Given the description of an element on the screen output the (x, y) to click on. 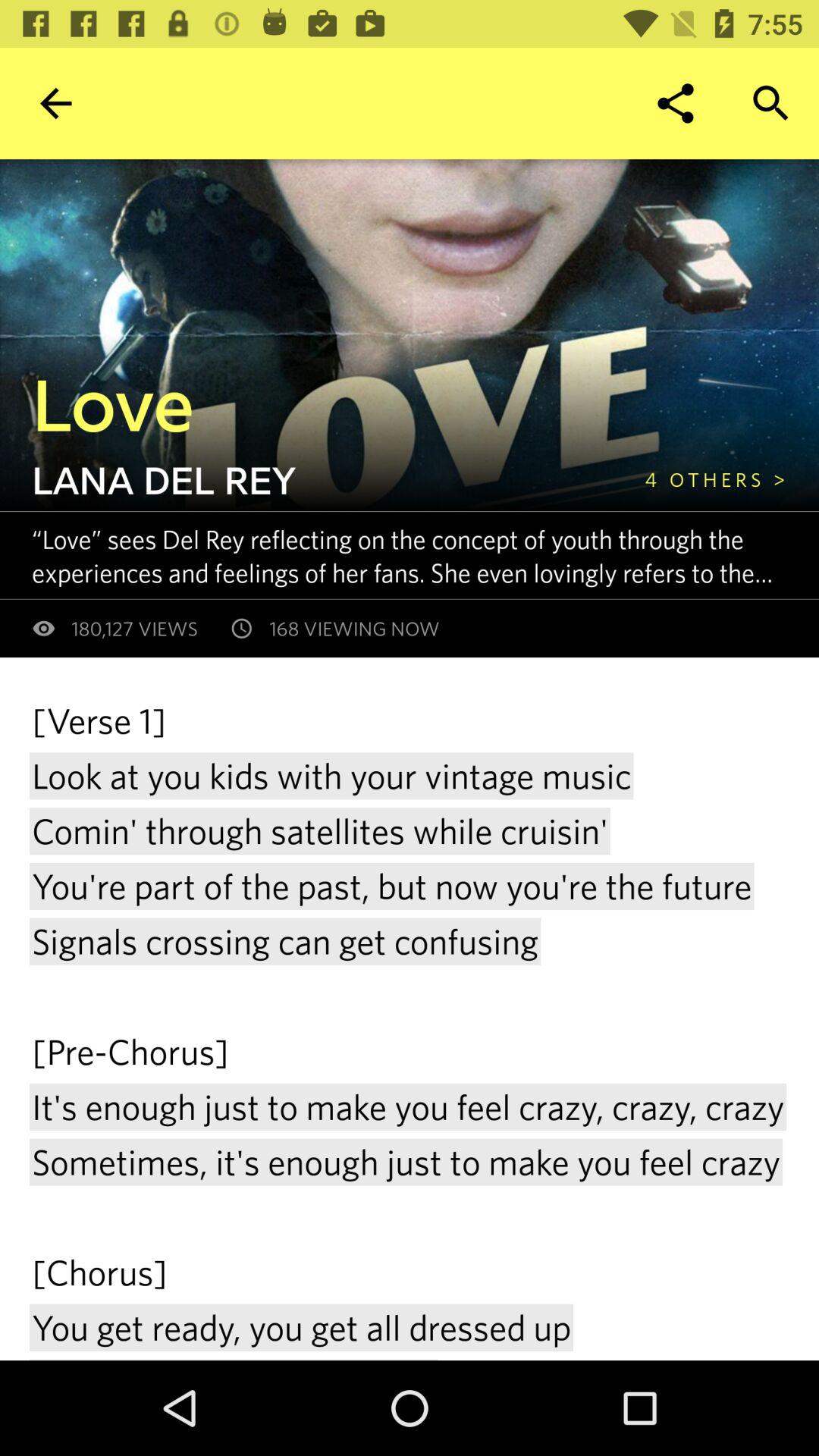
launch the 4 others > icon (715, 479)
